Given the description of an element on the screen output the (x, y) to click on. 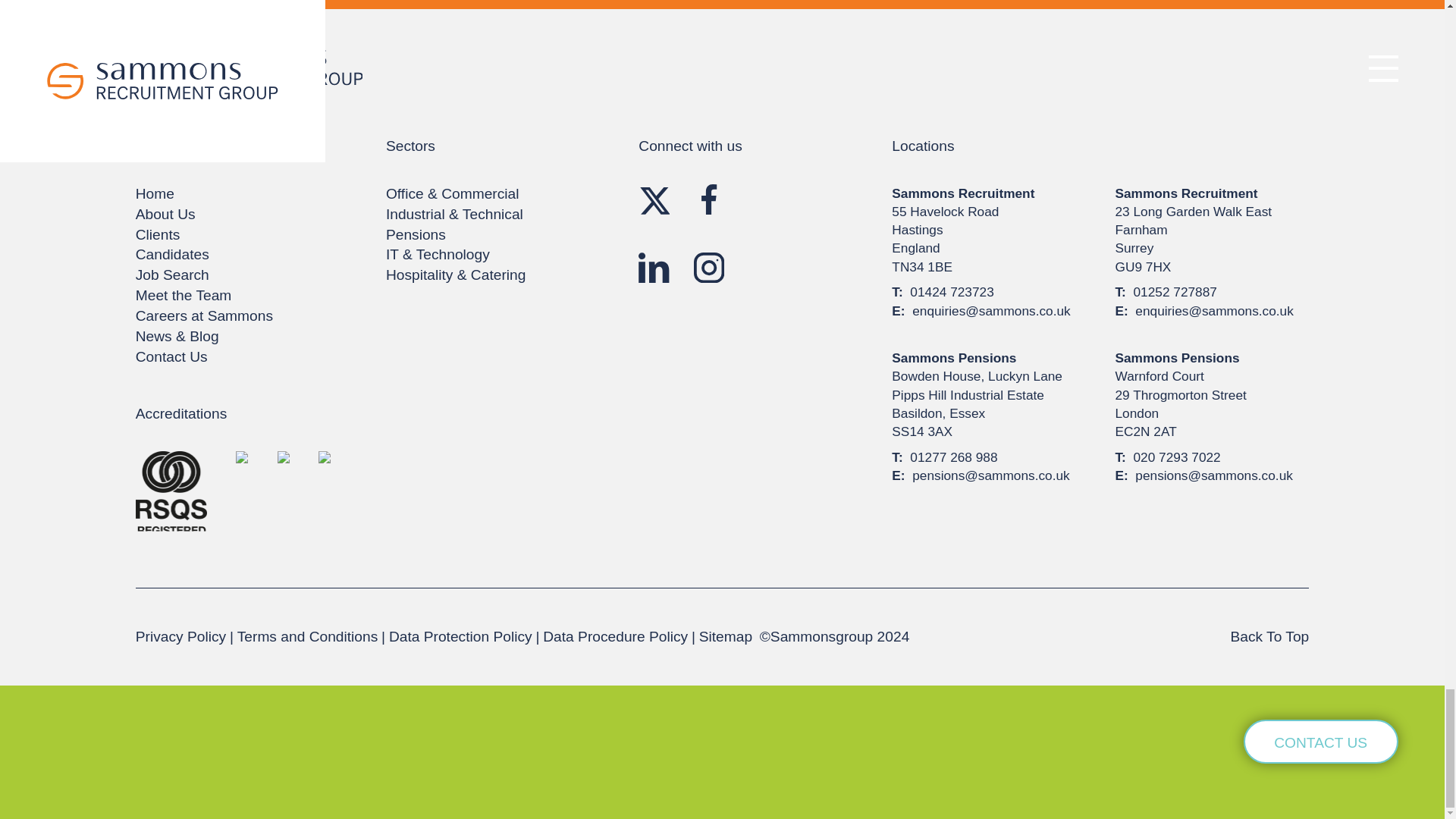
Home (154, 193)
Pensions (415, 234)
Contact Us (171, 356)
Careers at Sammons (204, 315)
Meet the Team (183, 295)
About Us (165, 213)
Clients (157, 234)
Candidates (172, 254)
Job Search (172, 274)
